Given the description of an element on the screen output the (x, y) to click on. 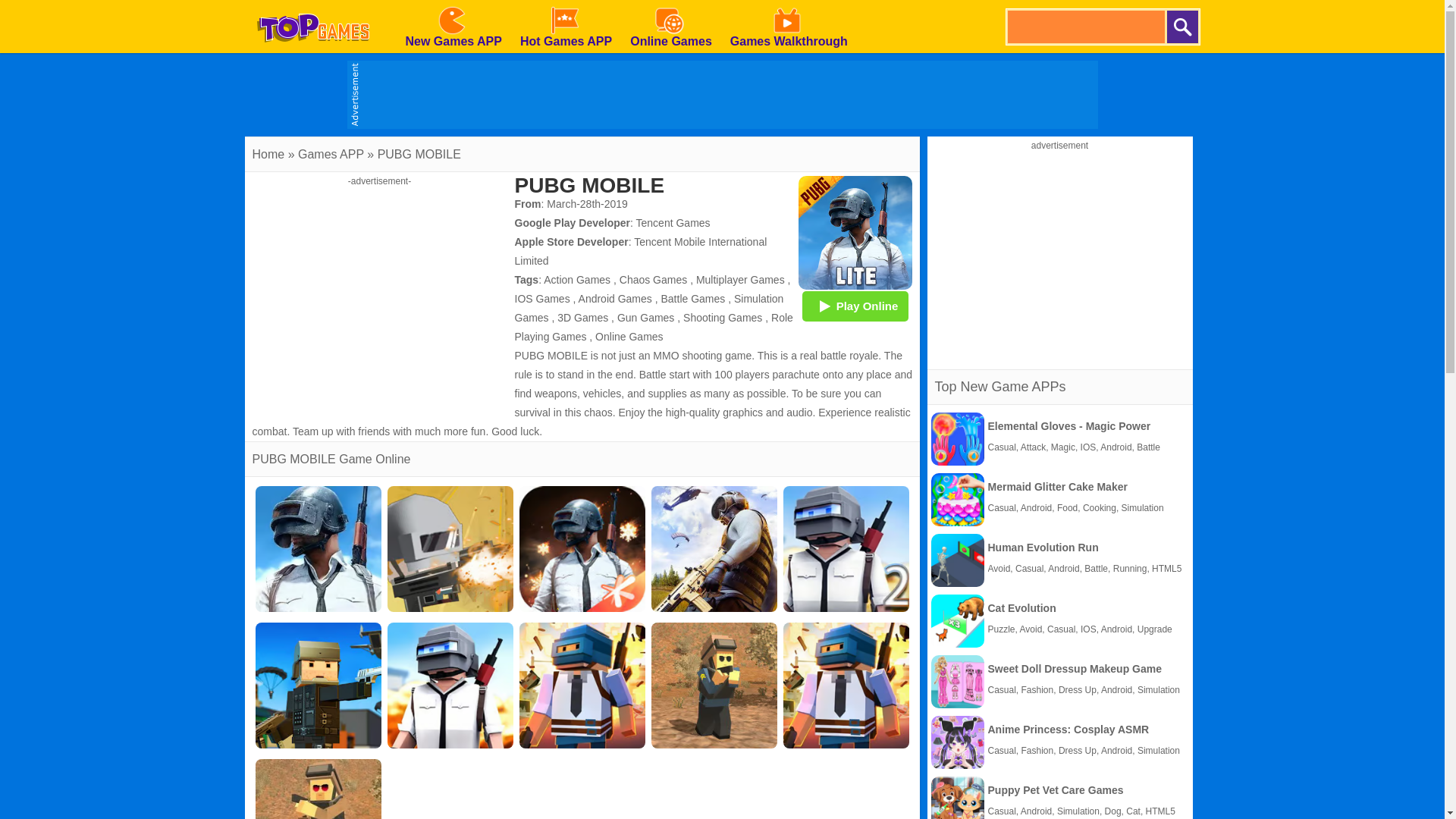
Role Playing Games (652, 327)
Tencent Games (673, 223)
Battle Games (693, 298)
IOS Games (541, 298)
Shooting Games (721, 317)
Advertisement (1060, 256)
Gun Games (645, 317)
3D Games (582, 317)
Multiplayer Games (739, 279)
Tencent Mobile International Limited (640, 250)
Play Online (855, 306)
Action Games (576, 279)
Advertisement (378, 292)
Android Games (615, 298)
Simulation Games (648, 307)
